Given the description of an element on the screen output the (x, y) to click on. 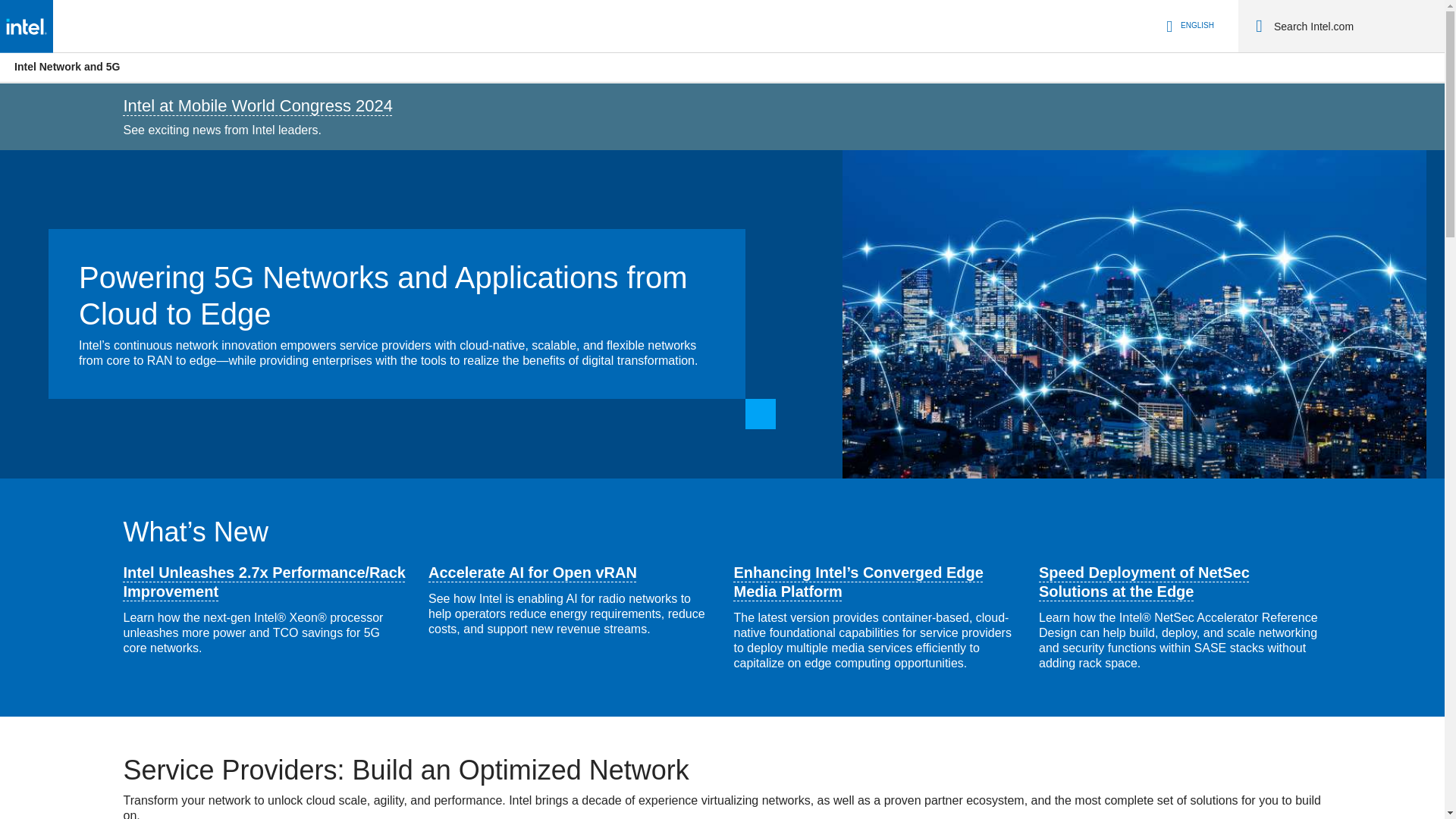
Search (1259, 26)
ENGLISH (1187, 26)
Language Selector (1187, 26)
